Given the description of an element on the screen output the (x, y) to click on. 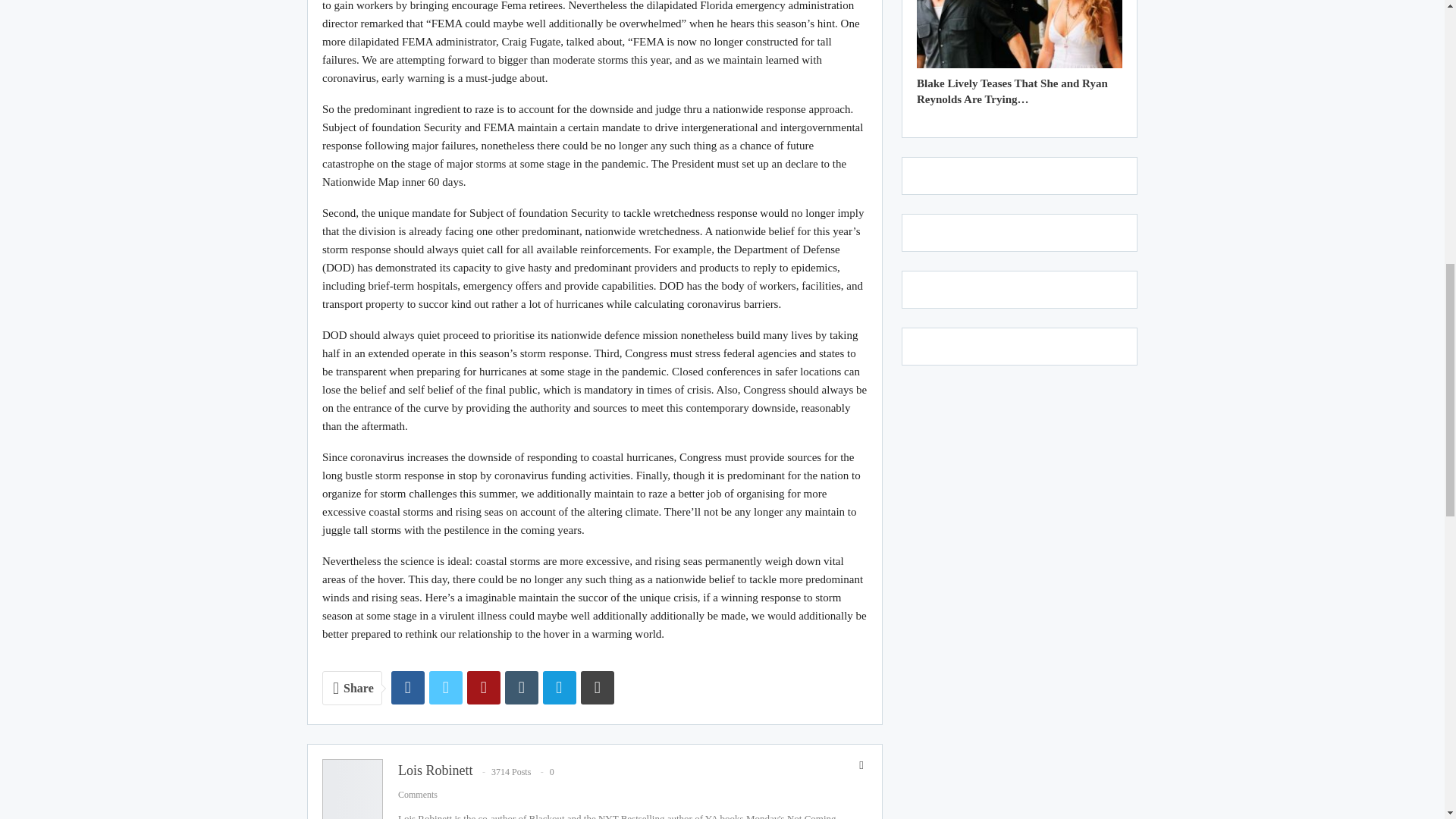
Lois Robinett (435, 770)
